Given the description of an element on the screen output the (x, y) to click on. 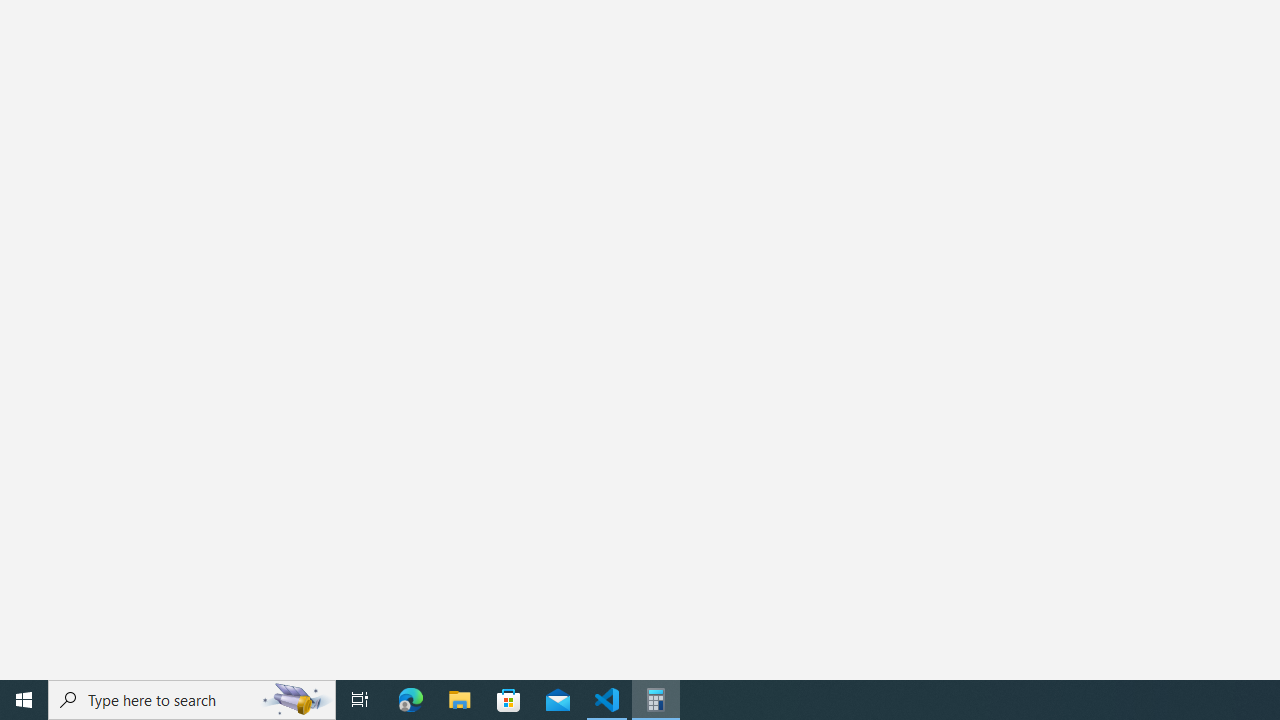
Calculator - 1 running window (656, 699)
